Given the description of an element on the screen output the (x, y) to click on. 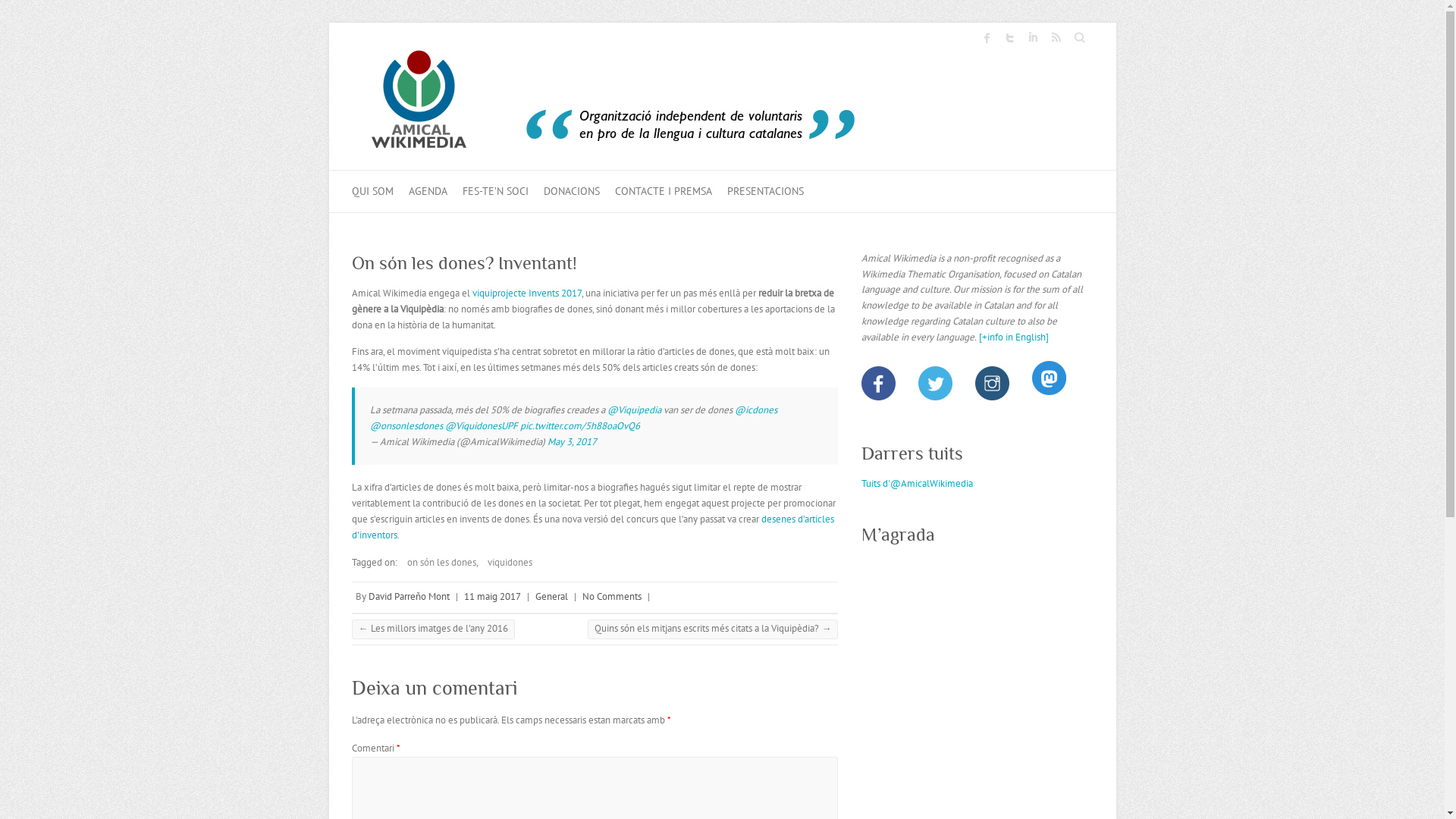
@ViquidonesUPF Element type: text (480, 425)
CONTACTE I PREMSA Element type: text (662, 191)
PRESENTACIONS Element type: text (764, 191)
Amical Wikimedia LinkedIn Element type: text (1031, 37)
DONACIONS Element type: text (570, 191)
Tuits d'@AmicalWikimedia Element type: text (916, 482)
@icdones Element type: text (755, 409)
Amical Wikimedia Element type: hover (616, 104)
No Comments Element type: text (611, 595)
viquidones Element type: text (505, 561)
viquiprojecte Invents 2017 Element type: text (525, 292)
11 maig 2017 Element type: text (492, 595)
[+info in English] Element type: text (1072, 344)
May 3, 2017 Element type: text (571, 441)
@Viquipedia Element type: text (633, 409)
AGENDA Element type: text (426, 191)
General Element type: text (551, 595)
Amical Wikimedia RSS Element type: text (1054, 37)
Amical Wikimedia Facebook Element type: text (986, 37)
pic.twitter.com/5h88oaOvQ6 Element type: text (580, 425)
@onsonlesdones Element type: text (406, 425)
QUI SOM Element type: text (372, 191)
Amical Wikimedia Twitter Element type: text (1008, 37)
